Given the description of an element on the screen output the (x, y) to click on. 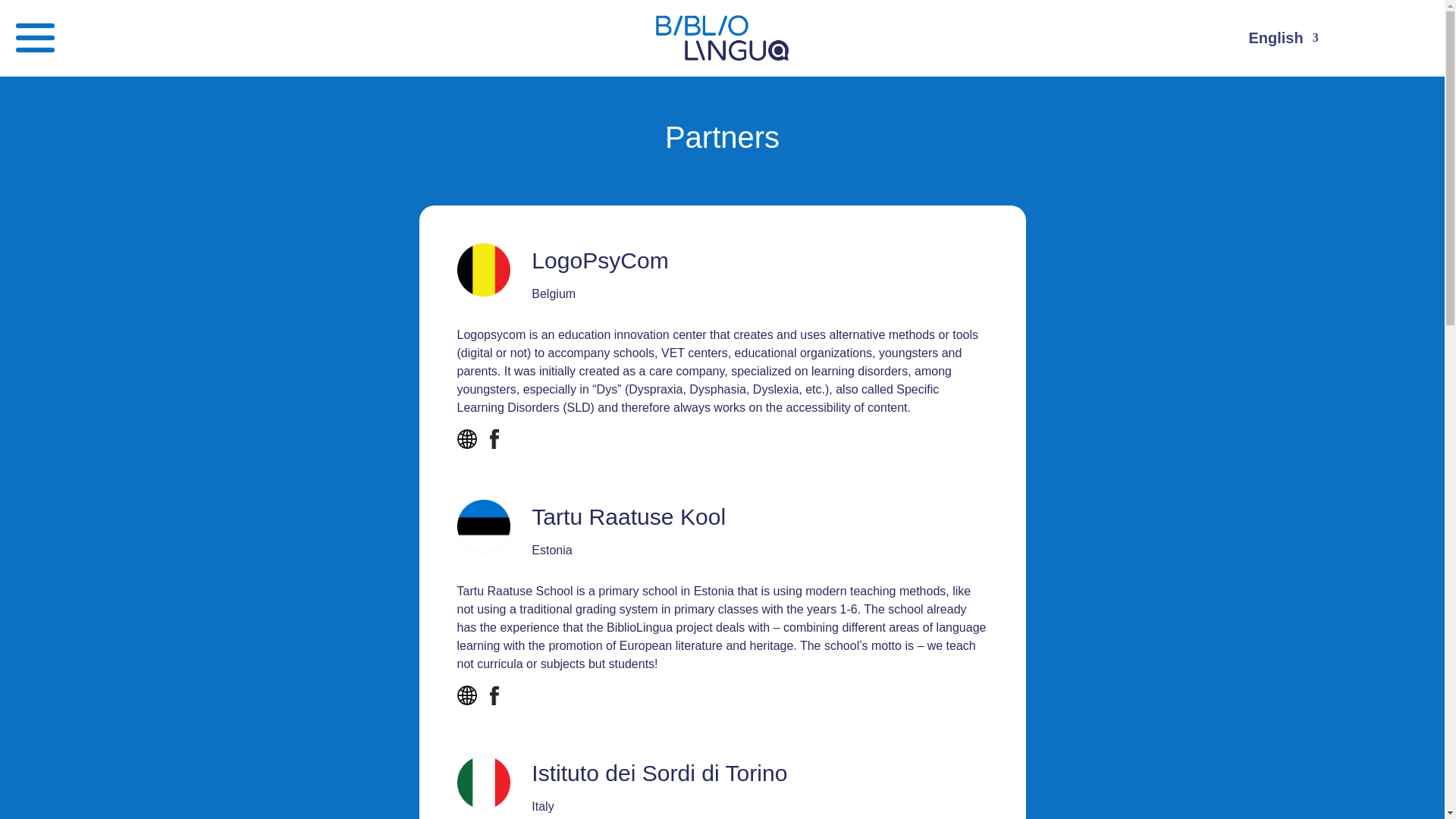
English (1282, 40)
logo (722, 37)
English (1282, 40)
